Given the description of an element on the screen output the (x, y) to click on. 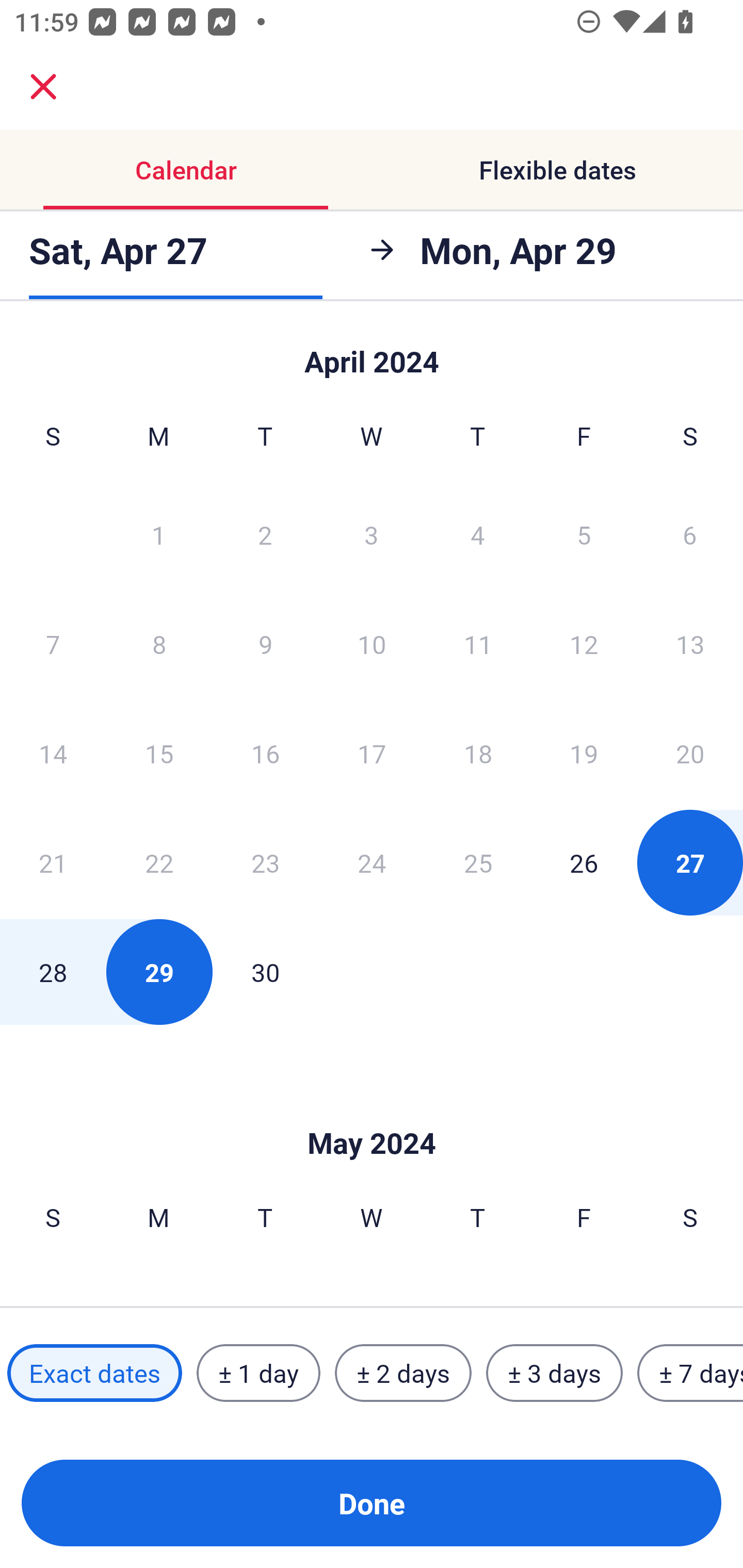
close. (43, 86)
Flexible dates (557, 170)
Skip to Done (371, 352)
1 Monday, April 1, 2024 (158, 534)
2 Tuesday, April 2, 2024 (264, 534)
3 Wednesday, April 3, 2024 (371, 534)
4 Thursday, April 4, 2024 (477, 534)
5 Friday, April 5, 2024 (583, 534)
6 Saturday, April 6, 2024 (689, 534)
7 Sunday, April 7, 2024 (53, 643)
8 Monday, April 8, 2024 (159, 643)
9 Tuesday, April 9, 2024 (265, 643)
10 Wednesday, April 10, 2024 (371, 643)
11 Thursday, April 11, 2024 (477, 643)
12 Friday, April 12, 2024 (584, 643)
13 Saturday, April 13, 2024 (690, 643)
14 Sunday, April 14, 2024 (53, 752)
15 Monday, April 15, 2024 (159, 752)
16 Tuesday, April 16, 2024 (265, 752)
17 Wednesday, April 17, 2024 (371, 752)
18 Thursday, April 18, 2024 (477, 752)
19 Friday, April 19, 2024 (584, 752)
20 Saturday, April 20, 2024 (690, 752)
21 Sunday, April 21, 2024 (53, 862)
22 Monday, April 22, 2024 (159, 862)
23 Tuesday, April 23, 2024 (265, 862)
24 Wednesday, April 24, 2024 (371, 862)
25 Thursday, April 25, 2024 (477, 862)
26 Friday, April 26, 2024 (584, 862)
30 Tuesday, April 30, 2024 (265, 971)
Skip to Done (371, 1112)
Exact dates (94, 1372)
± 1 day (258, 1372)
± 2 days (403, 1372)
± 3 days (553, 1372)
± 7 days (690, 1372)
Done (371, 1502)
